Given the description of an element on the screen output the (x, y) to click on. 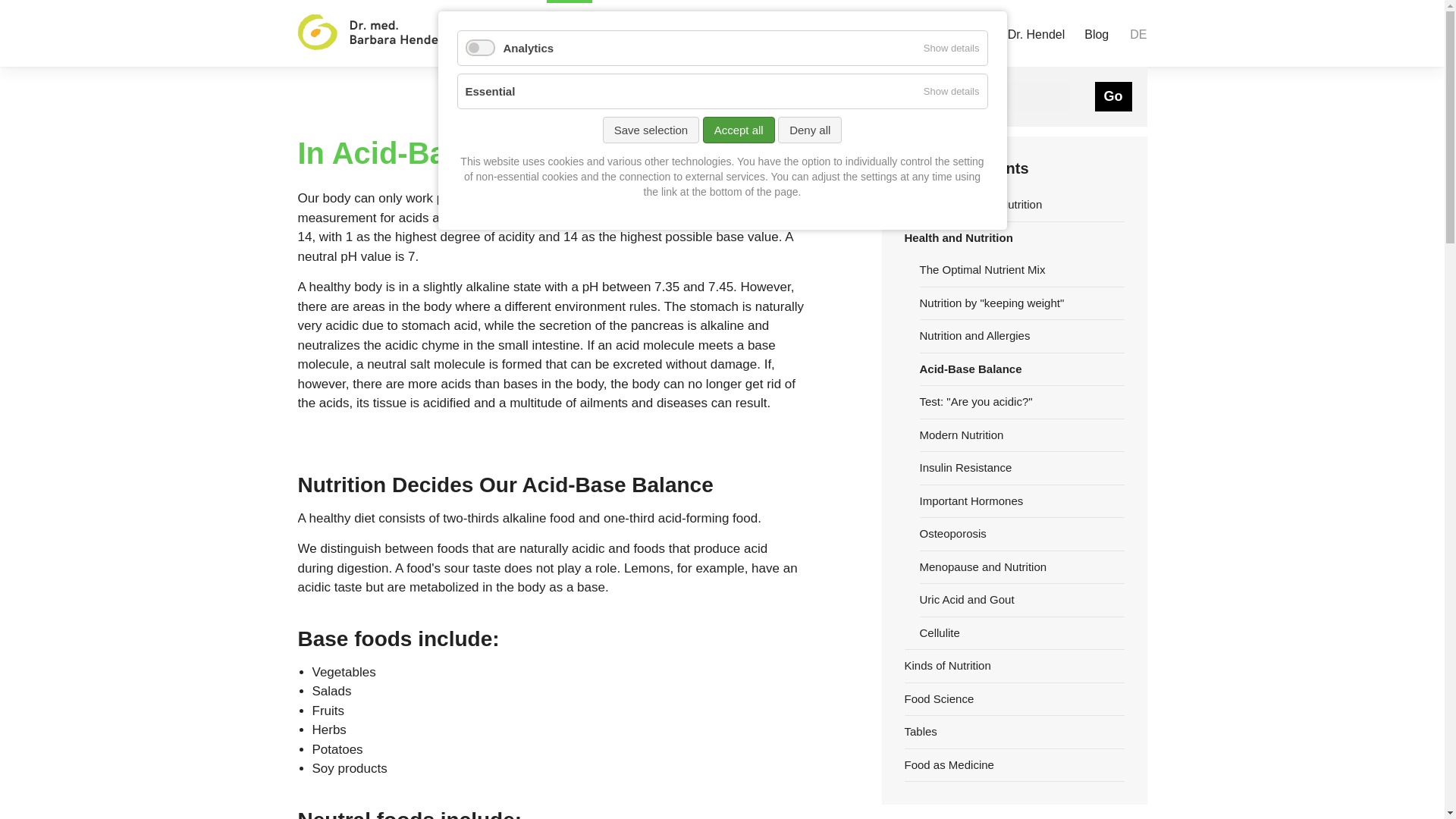
Dr. med. Barbara Hendel (369, 33)
Dietary Supplements (668, 33)
Dietary Supplements (668, 33)
Go (1113, 96)
